Given the description of an element on the screen output the (x, y) to click on. 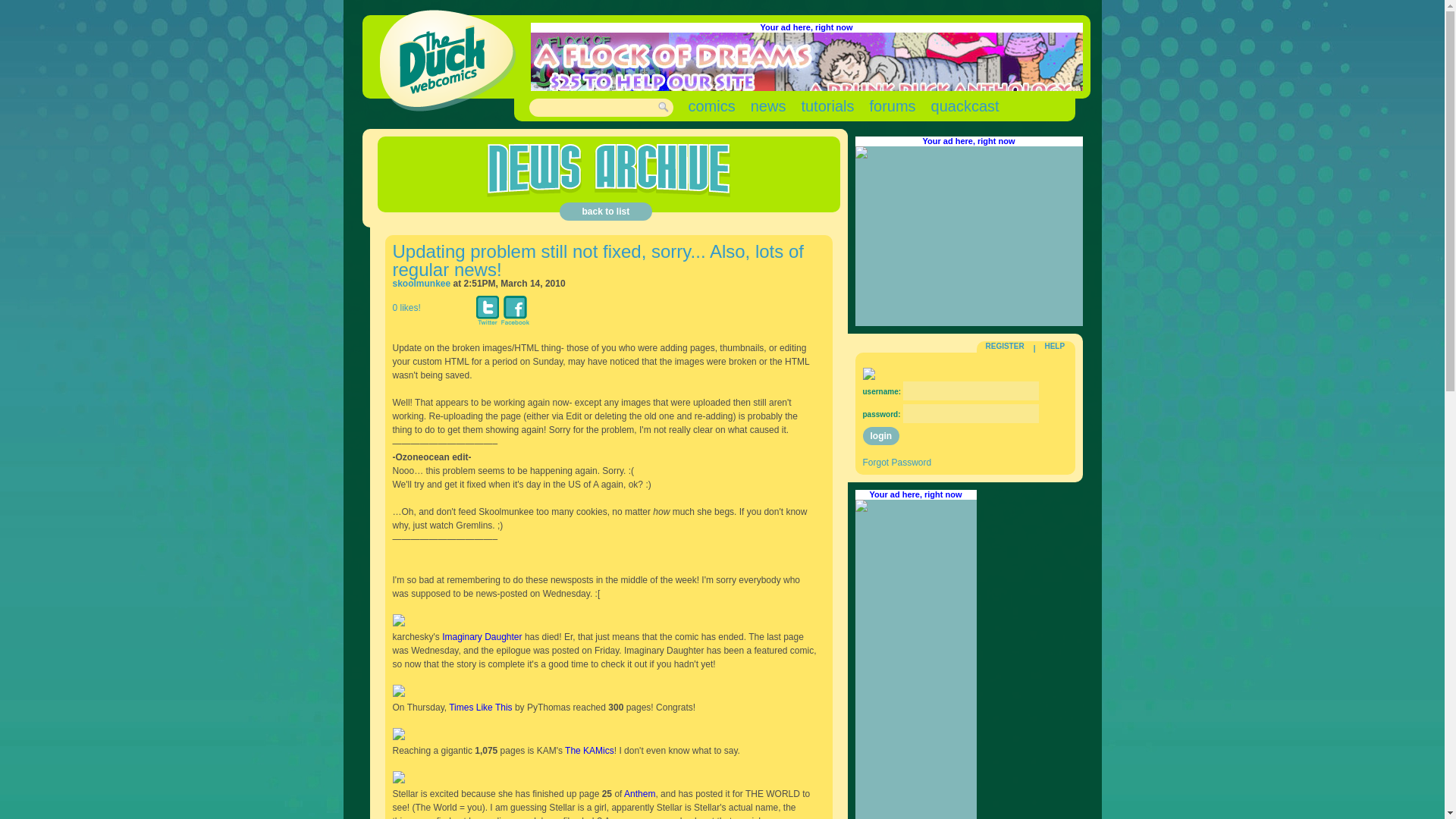
comics (711, 105)
login (881, 435)
REGISTER (1005, 346)
Forgot Password (897, 462)
back to list (605, 211)
HELP (1053, 346)
Times Like This (480, 706)
The KAMics (589, 750)
login (881, 435)
Your ad here, right now (805, 26)
tutorials (826, 105)
skoolmunkee (422, 283)
news (768, 105)
forums (892, 105)
